Given the description of an element on the screen output the (x, y) to click on. 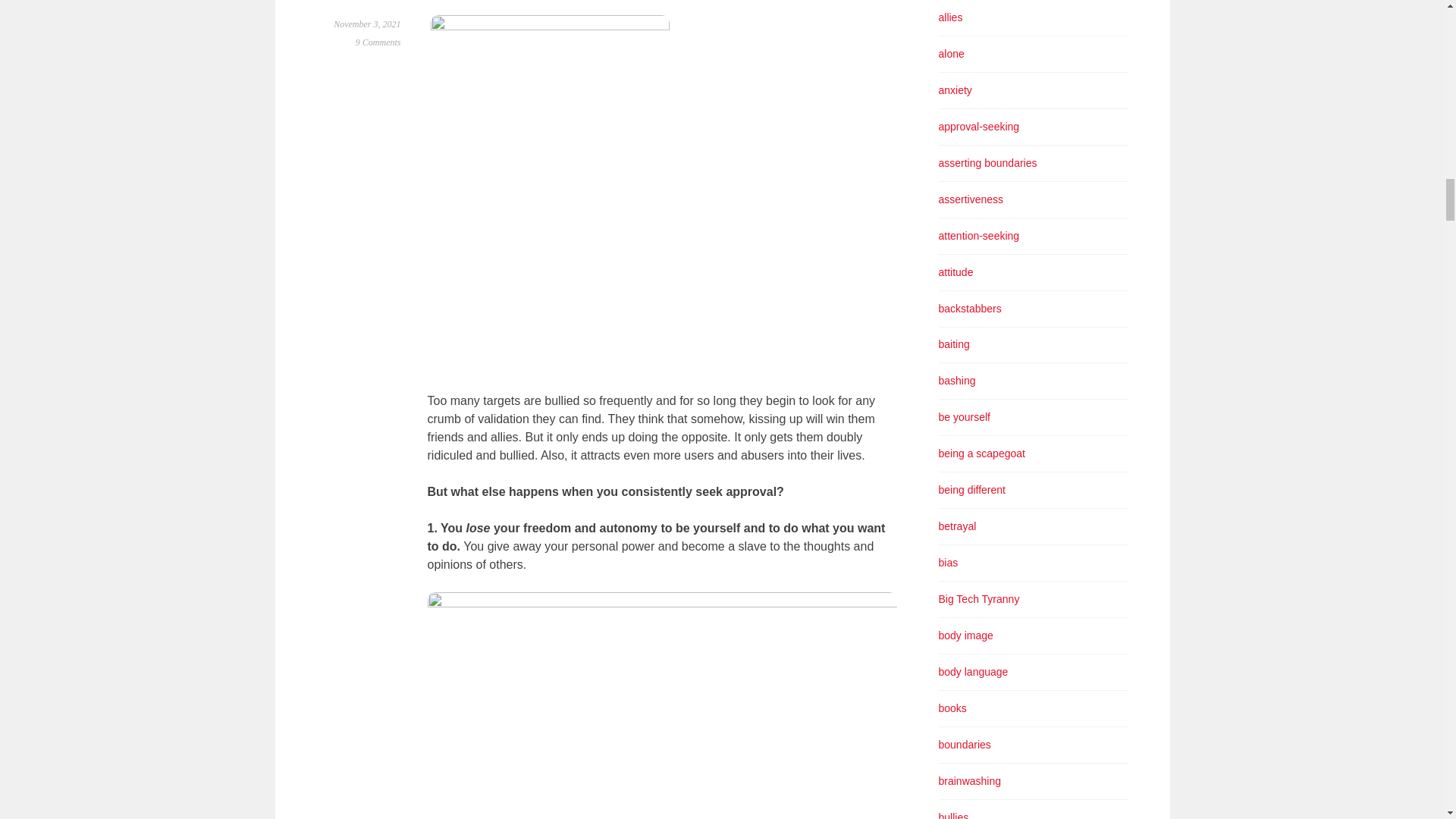
9 Comments (378, 41)
November 3, 2021 (366, 23)
